Given the description of an element on the screen output the (x, y) to click on. 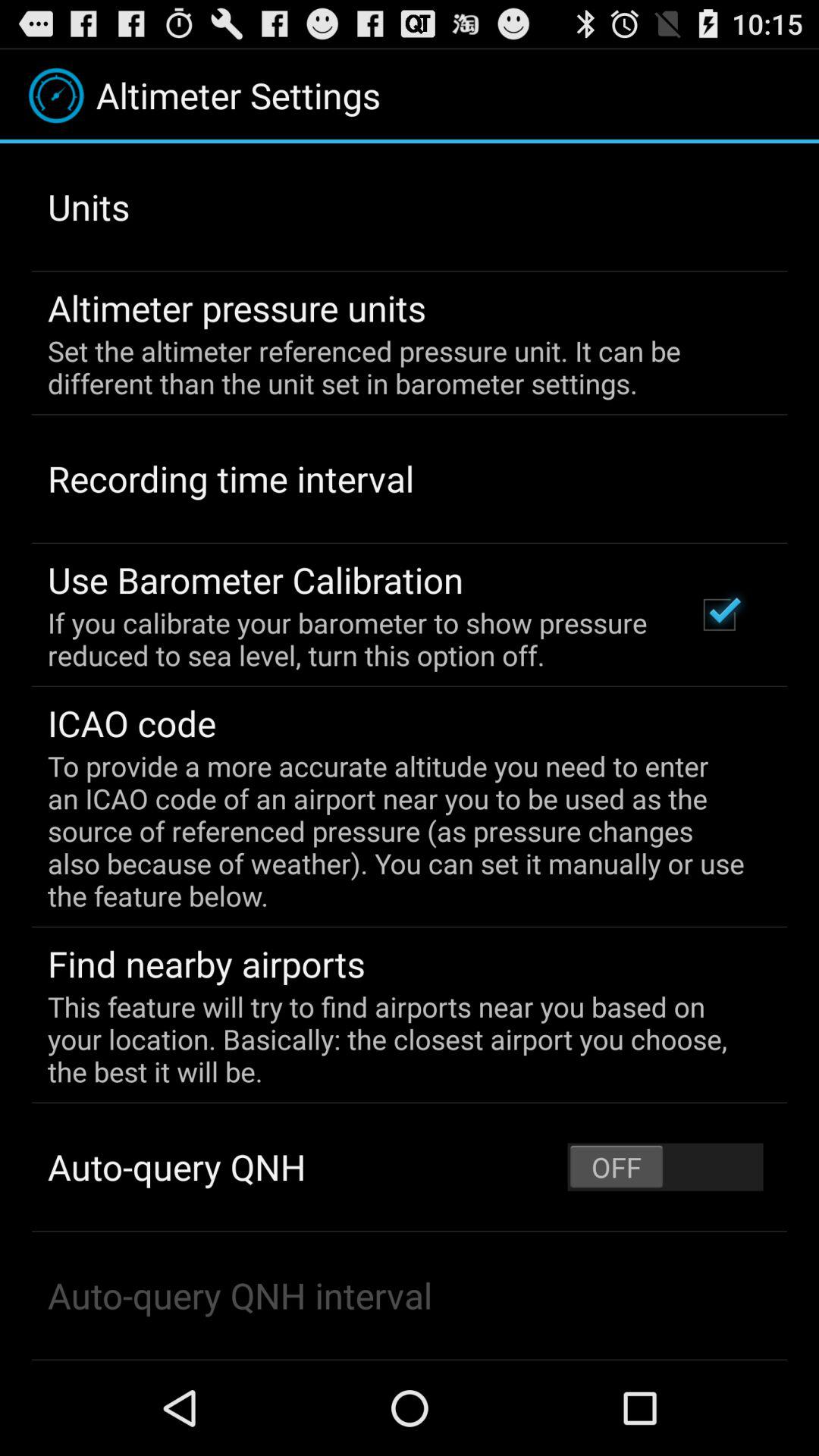
choose the to provide a item (399, 830)
